Given the description of an element on the screen output the (x, y) to click on. 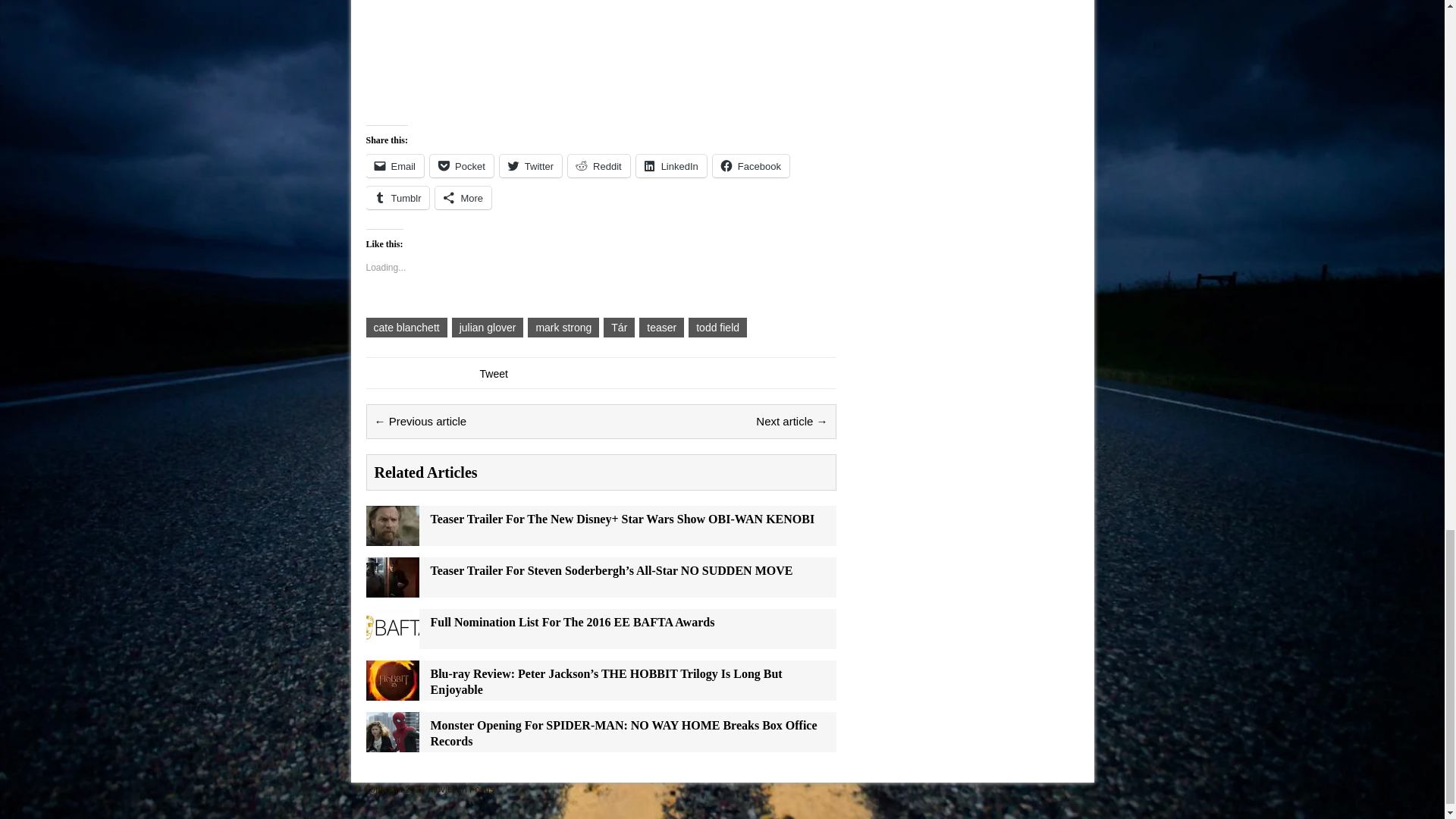
Click to share on Pocket (461, 165)
teaser (661, 327)
Twitter (530, 165)
Tumblr (397, 197)
Click to share on Reddit (598, 165)
Facebook (751, 165)
Click to share on Twitter (530, 165)
Pocket (461, 165)
mark strong (562, 327)
Click to share on LinkedIn (671, 165)
Click to share on Facebook (751, 165)
Tweet (492, 373)
Reddit (598, 165)
todd field (717, 327)
cate blanchett (405, 327)
